Given the description of an element on the screen output the (x, y) to click on. 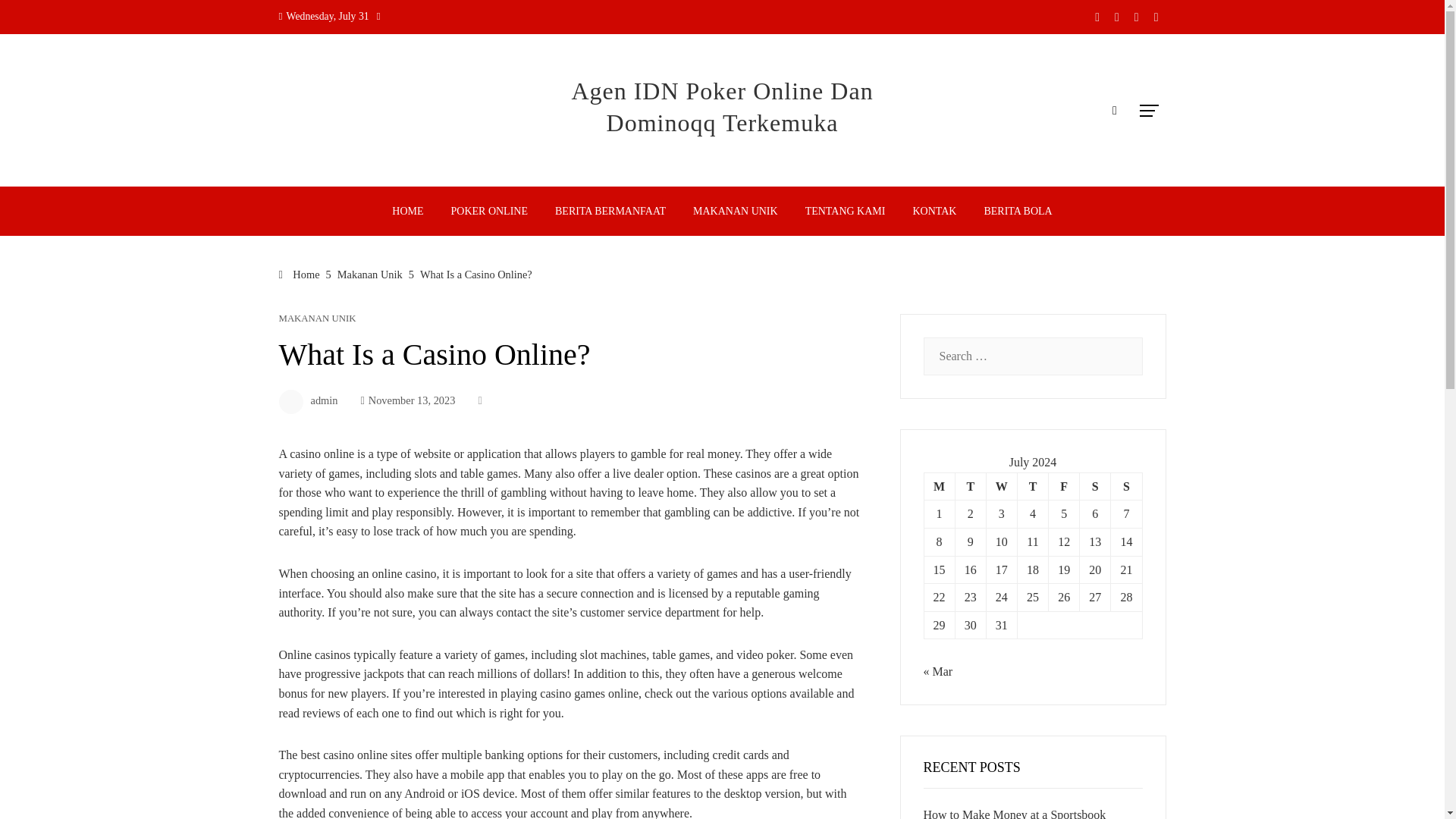
HOME (406, 210)
Makanan Unik (370, 274)
POKER ONLINE (489, 210)
Monday (939, 486)
Agen IDN Poker Online Dan Dominoqq Terkemuka (721, 106)
Tuesday (970, 486)
MAKANAN UNIK (735, 210)
Wednesday (1000, 486)
Search (35, 18)
Friday (1064, 486)
Saturday (1095, 486)
KONTAK (934, 210)
Sunday (1125, 486)
How to Make Money at a Sportsbook (1014, 813)
Thursday (1032, 486)
